Given the description of an element on the screen output the (x, y) to click on. 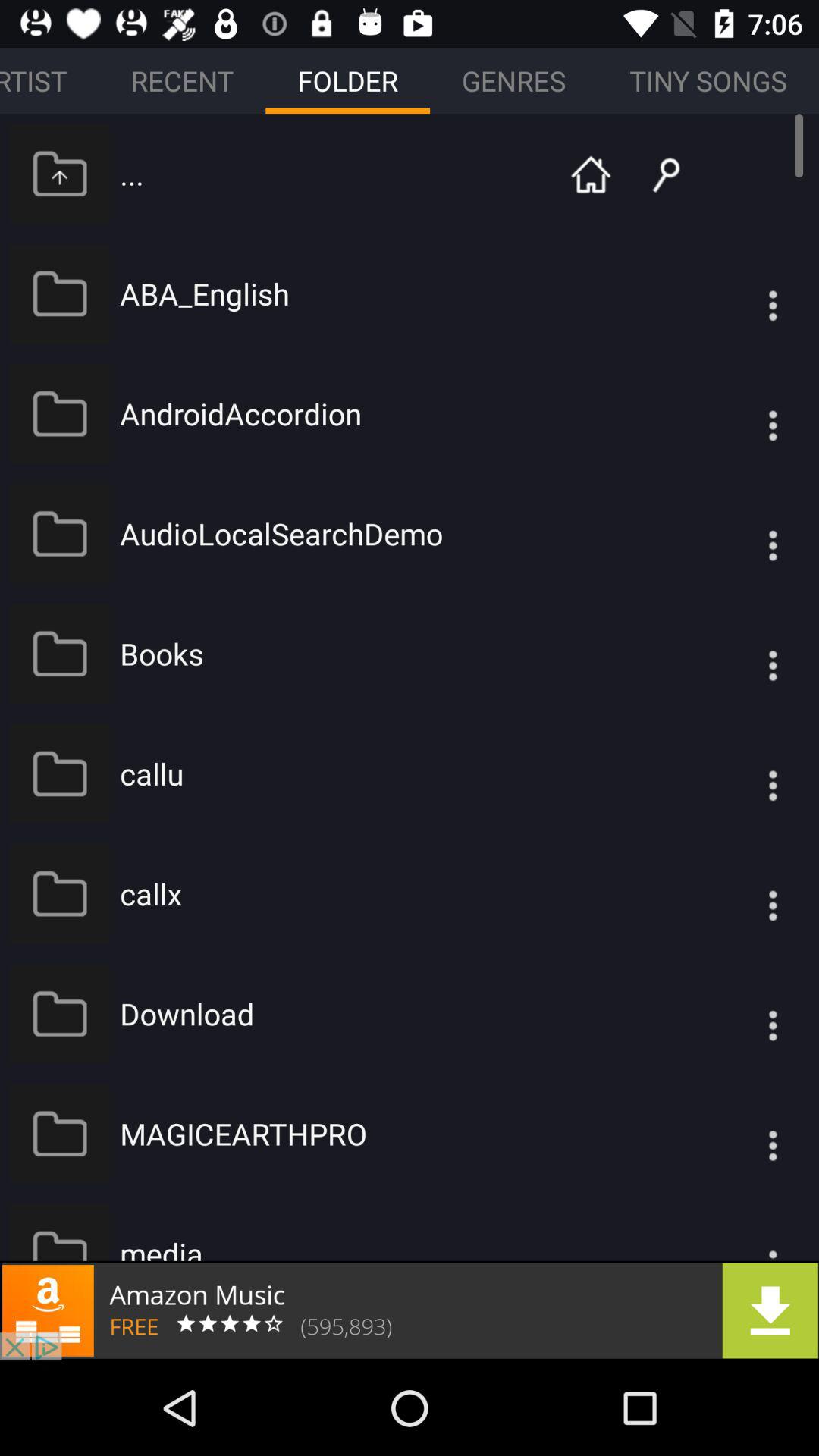
settings (742, 773)
